Given the description of an element on the screen output the (x, y) to click on. 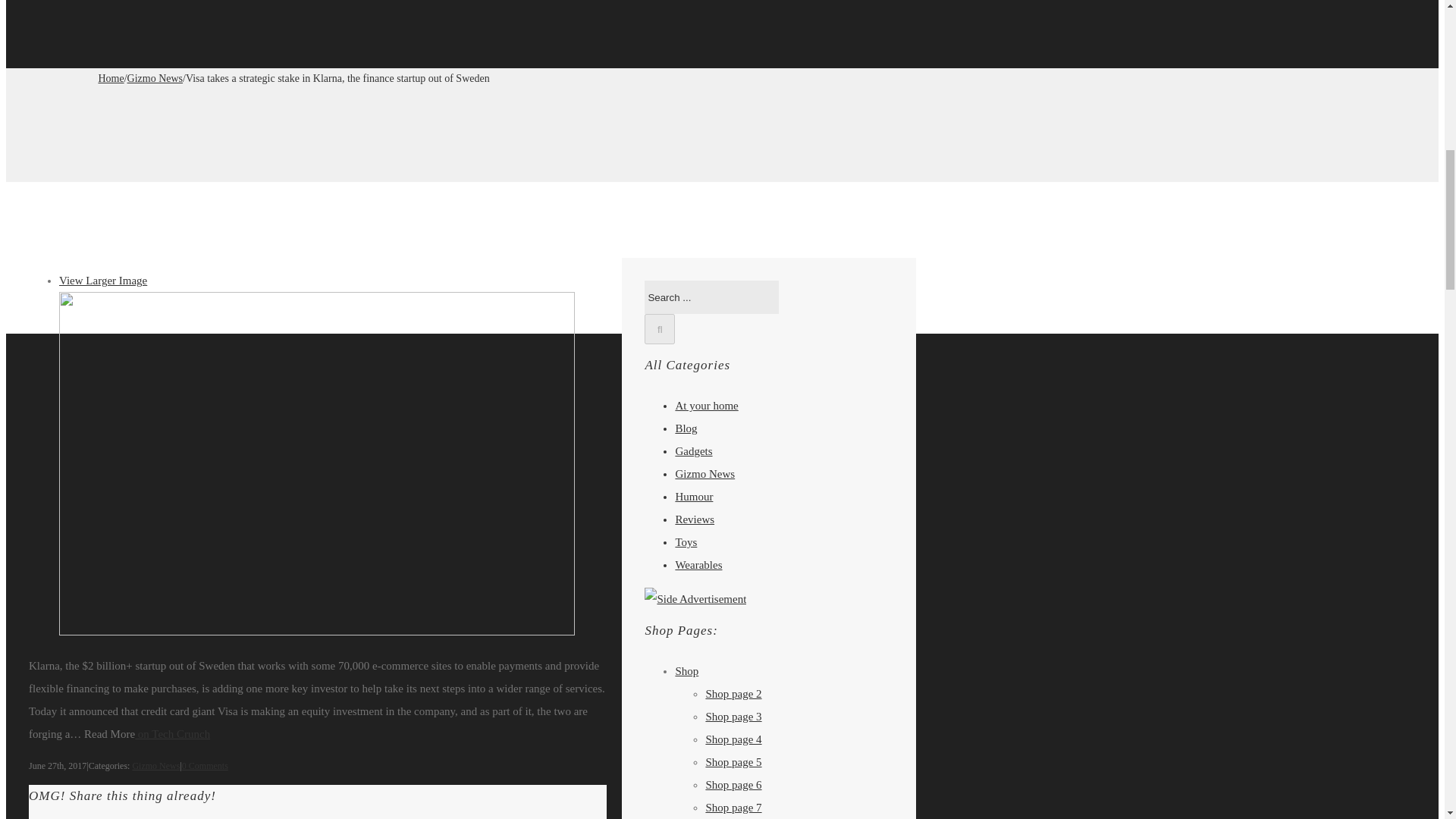
on Tech Crunch (172, 734)
Gizmo News (155, 78)
0 Comments (205, 765)
Gizmo News (155, 765)
Home (110, 78)
